Given the description of an element on the screen output the (x, y) to click on. 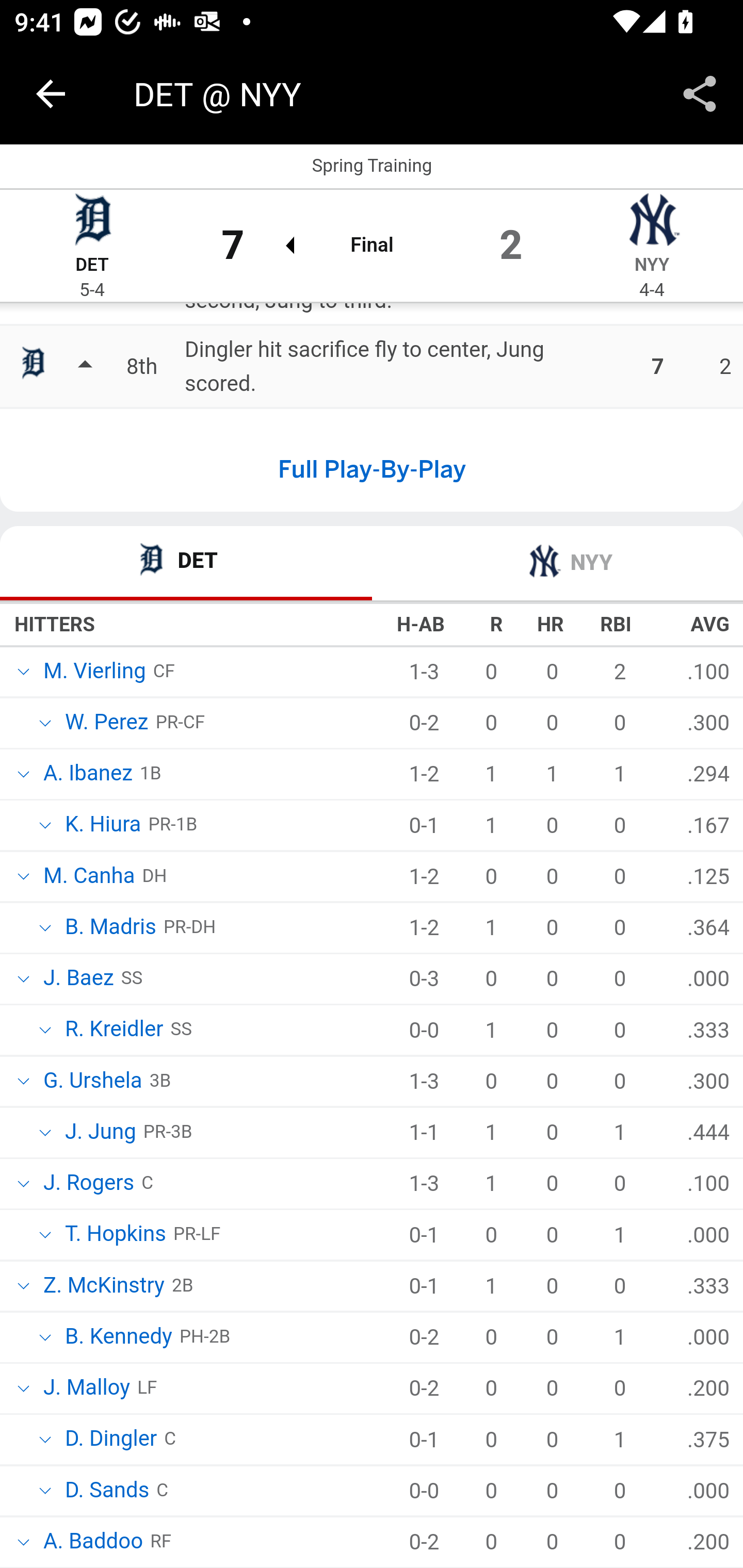
Navigate up (50, 93)
Share (699, 93)
Detroit Tigers (91, 223)
New York Yankees (651, 223)
DET (91, 266)
NYY (651, 266)
Full Play-By-Play (371, 471)
DET (186, 564)
NYY (557, 564)
M. Vierling (92, 673)
W. Perez (105, 723)
A. Ibanez 1B A. Ibanez A. Ibanez 1B 1-2 1 1 1 .294 (371, 775)
A. Ibanez (86, 776)
K. Hiura (101, 827)
M. Canha DH M. Canha M. Canha DH 1-2 0 0 0 .125 (371, 877)
M. Canha (87, 877)
B. Madris (108, 928)
J. Baez SS J. Baez J. Baez SS 0-3 0 0 0 .000 (371, 979)
J. Baez (77, 979)
R. Kreidler (112, 1030)
G. Urshela (90, 1082)
J. Jung PR-3B J. Jung J. Jung PR-3B 1-1 1 0 1 .444 (371, 1134)
J. Jung (99, 1134)
J. Rogers C J. Rogers J. Rogers C 1-3 1 0 0 .100 (371, 1184)
J. Rogers (87, 1184)
T. Hopkins (114, 1236)
Z. McKinstry (102, 1286)
B. Kennedy (117, 1337)
J. Malloy LF J. Malloy J. Malloy LF 0-2 0 0 0 .200 (371, 1389)
J. Malloy (85, 1390)
D. Dingler (110, 1440)
D. Sands C D. Sands D. Sands C 0-0 0 0 0 .000 (371, 1492)
D. Sands (105, 1490)
A. Baddoo RF A. Baddoo A. Baddoo RF 0-2 0 0 0 .200 (371, 1542)
A. Baddoo (91, 1543)
